Given the description of an element on the screen output the (x, y) to click on. 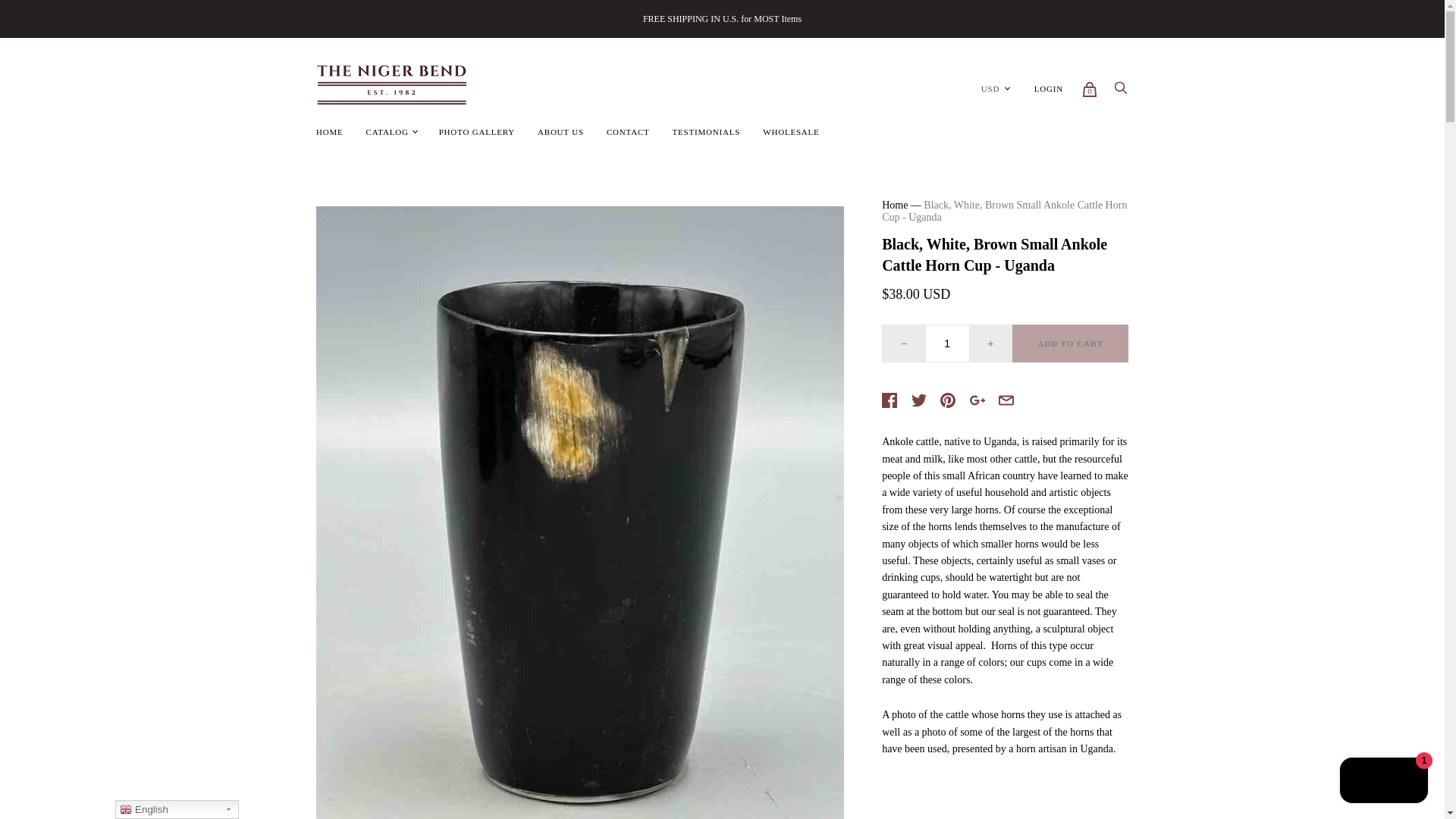
Shopify online store chat (1383, 781)
1 (947, 343)
Home (894, 204)
HOME (329, 132)
CATALOG (387, 132)
